Given the description of an element on the screen output the (x, y) to click on. 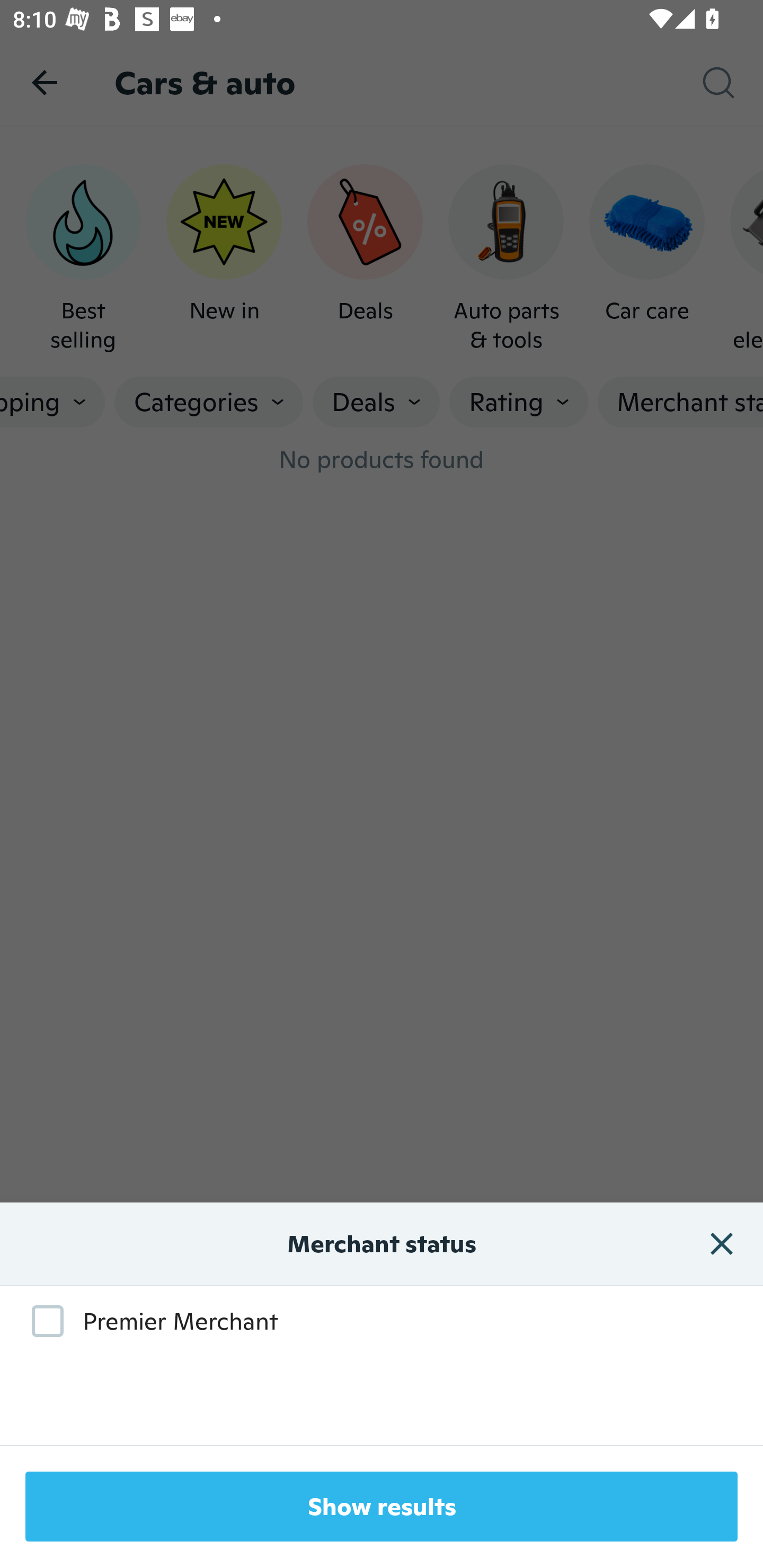
Premier Merchant (145, 1320)
Show results (381, 1506)
